Given the description of an element on the screen output the (x, y) to click on. 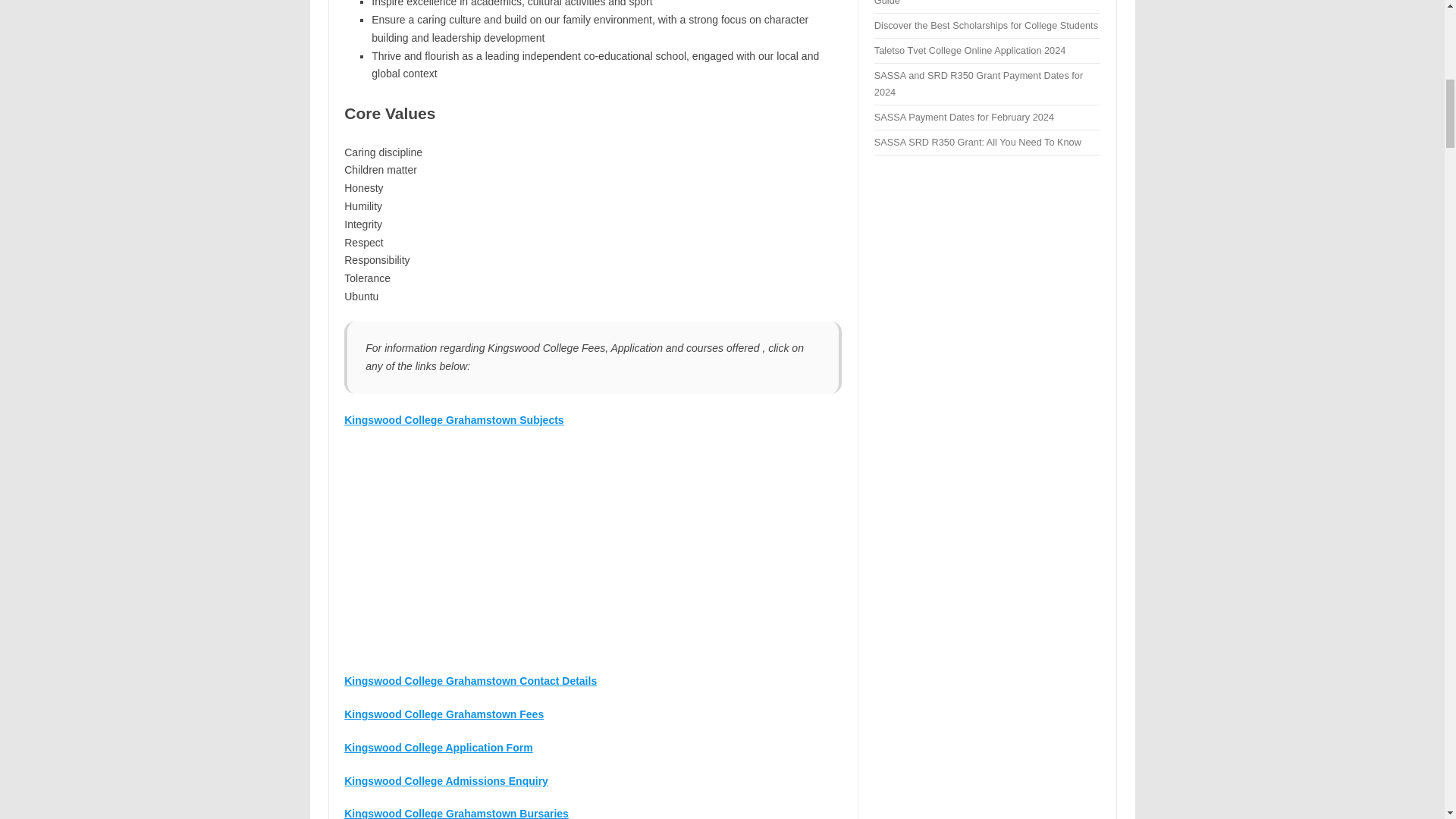
Kingswood College Grahamstown Fees (443, 714)
Kingswood College Grahamstown Bursaries (456, 813)
Kingswood College Grahamstown Subjects (453, 419)
Kingswood College Admissions Enquiry (445, 780)
Kingswood College Grahamstown Contact Details (469, 680)
Kingswood College Application Form (437, 747)
